Given the description of an element on the screen output the (x, y) to click on. 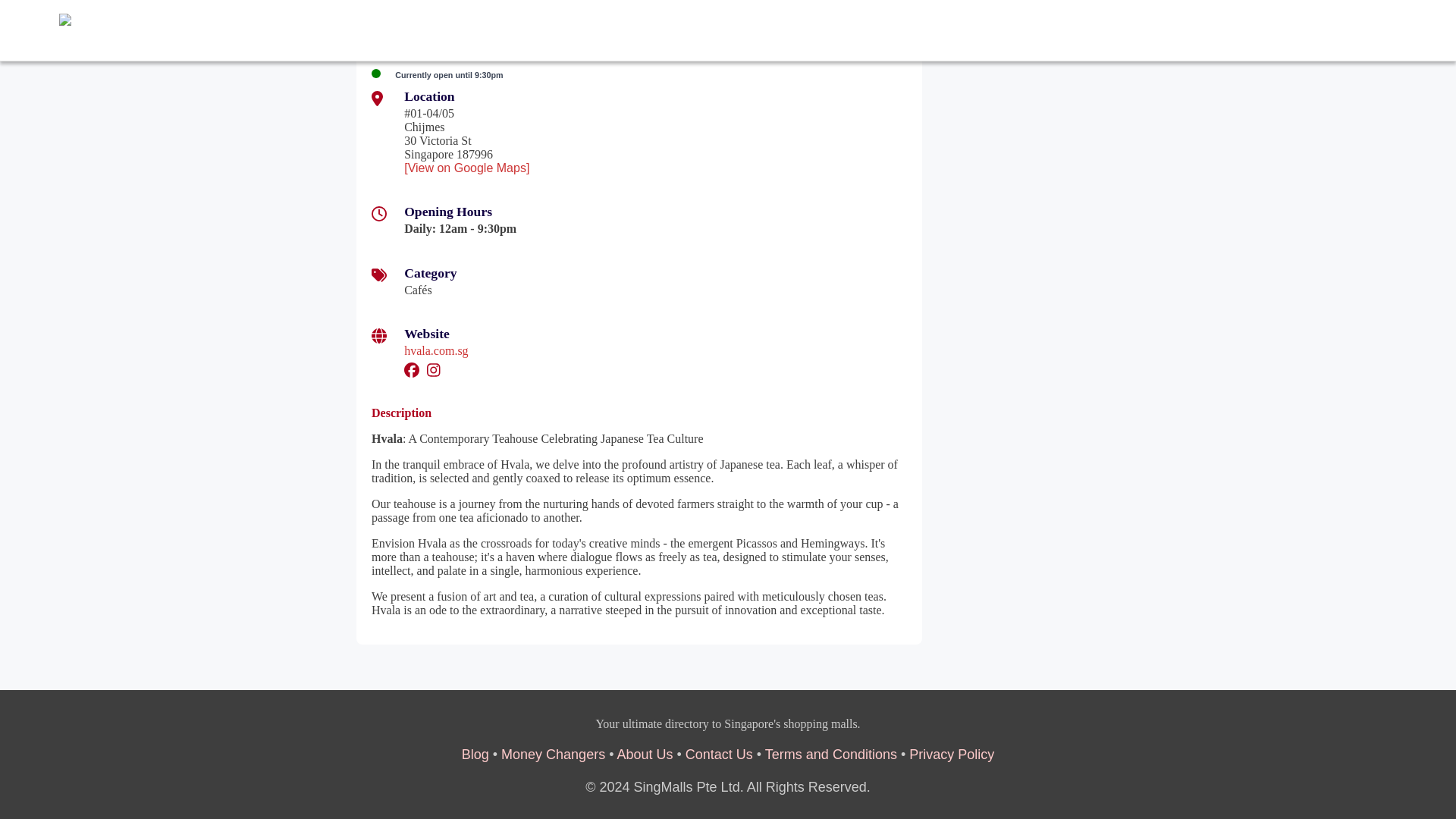
Blog (475, 754)
About Us (643, 754)
Privacy Policy (951, 754)
Terms and Conditions (830, 754)
Contact Us (718, 754)
hvala.com.sg (435, 350)
Money Changers (552, 754)
